Given the description of an element on the screen output the (x, y) to click on. 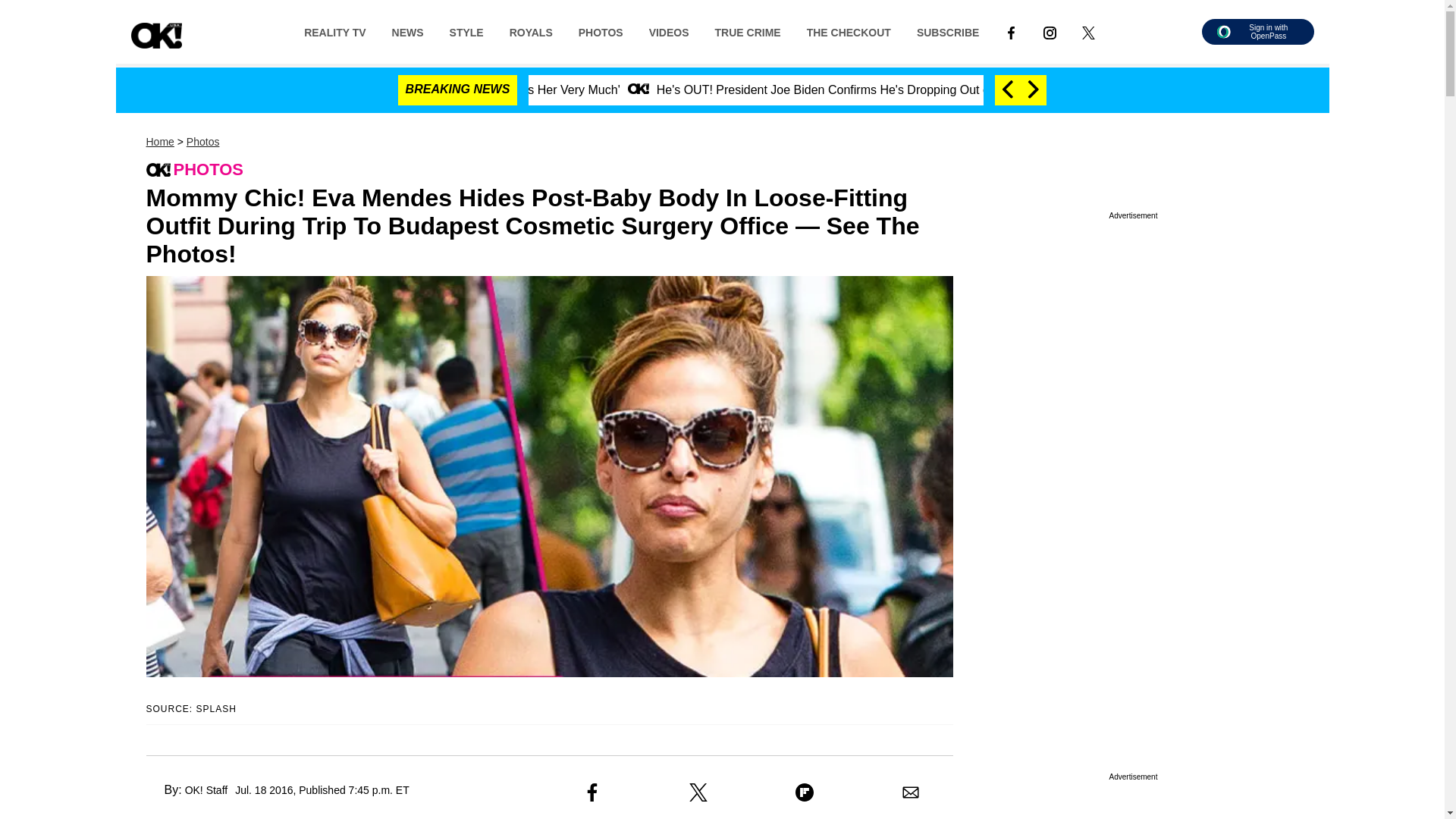
REALITY TV (334, 31)
LINK TO X (1087, 32)
Link to Instagram (1049, 31)
LINK TO INSTAGRAM (1050, 32)
OK! Staff (206, 789)
Photos (202, 141)
PHOTOS (601, 31)
VIDEOS (668, 31)
TRUE CRIME (747, 31)
Sign in with OpenPass (1257, 31)
Link to Facebook (1010, 31)
NEWS (407, 31)
Share to Flipboard (803, 791)
